Given the description of an element on the screen output the (x, y) to click on. 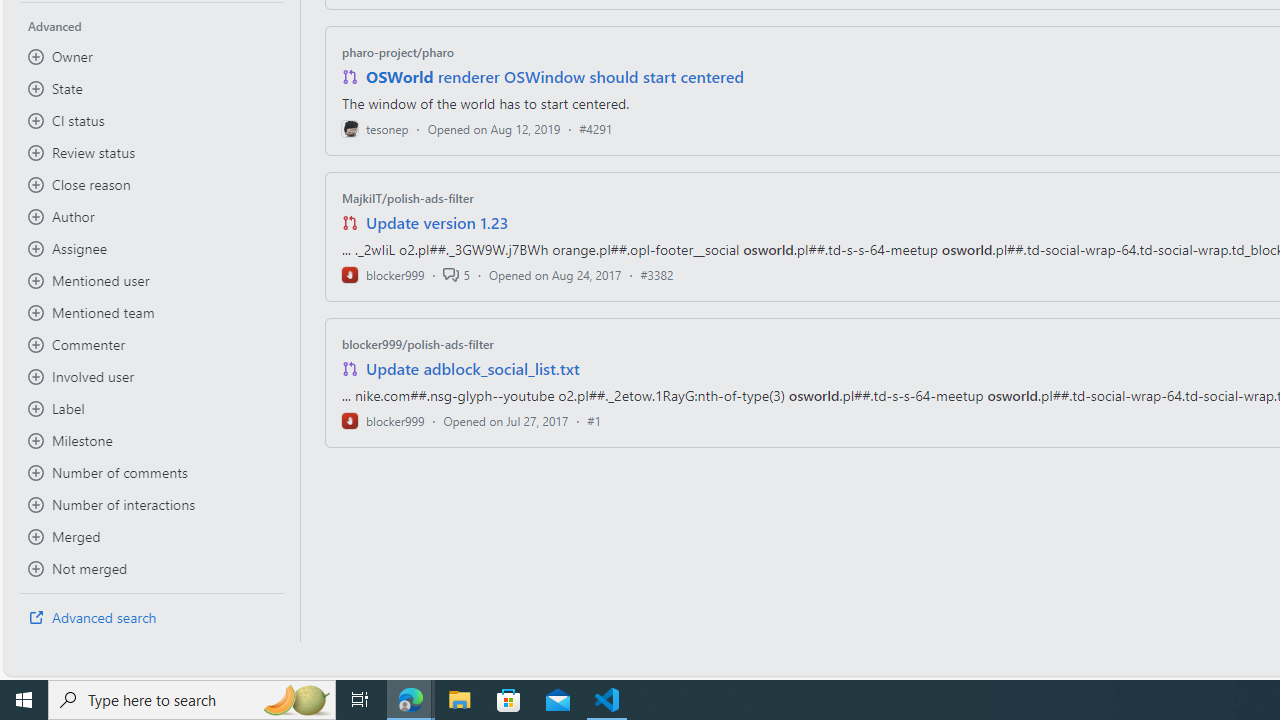
#1 (594, 420)
#4291 (595, 128)
